Given the description of an element on the screen output the (x, y) to click on. 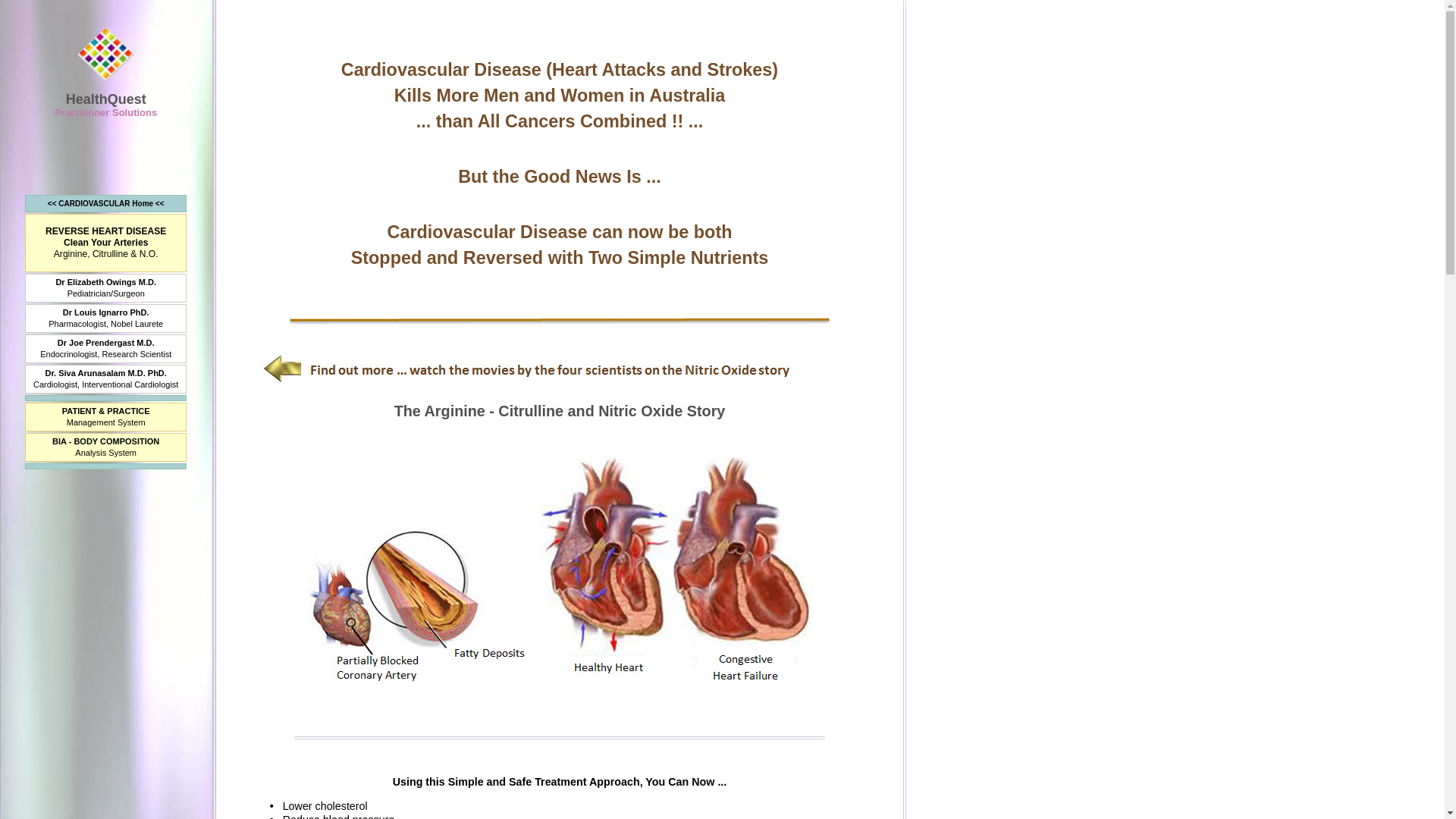
<< CARDIOVASCULAR Home << Element type: text (105, 203)
PATIENT & PRACTICE
Management System Element type: text (106, 416)
Dr Joe Prendergast M.D.
Endocrinologist, Research Scientist Element type: text (105, 348)
Dr Elizabeth Owings M.D.
Pediatrician/Surgeon Element type: text (105, 287)
Dr Louis Ignarro PhD.
Pharmacologist, Nobel Laurete Element type: text (105, 317)
BIA - BODY COMPOSITION
Analysis System Element type: text (105, 446)
